Given the description of an element on the screen output the (x, y) to click on. 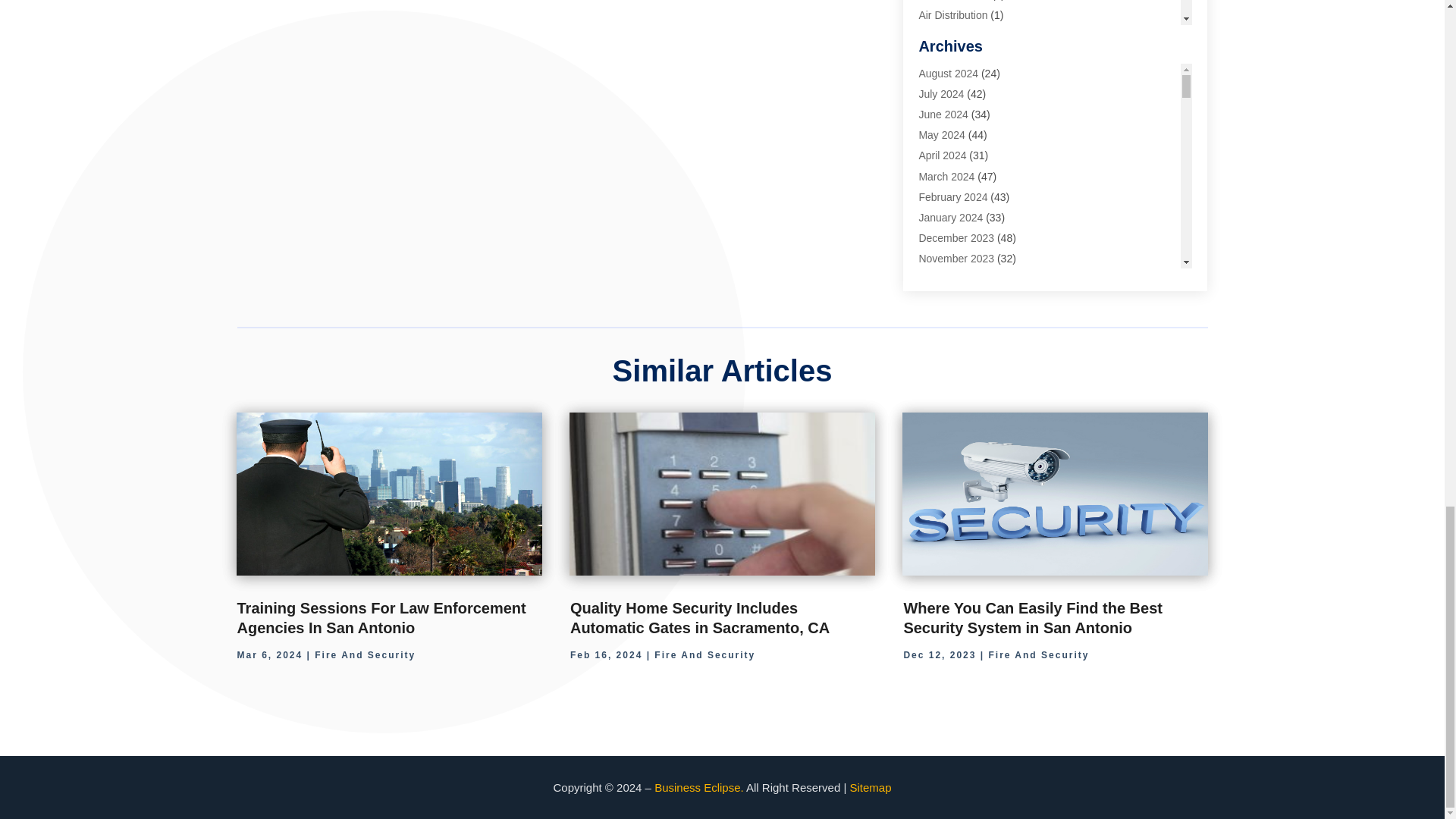
Air Conditioner (953, 0)
Air Quality Control System (980, 56)
Aircraft (935, 77)
Air Distribution (952, 15)
Aluminum Supplier (962, 97)
Air Filters (940, 35)
